Given the description of an element on the screen output the (x, y) to click on. 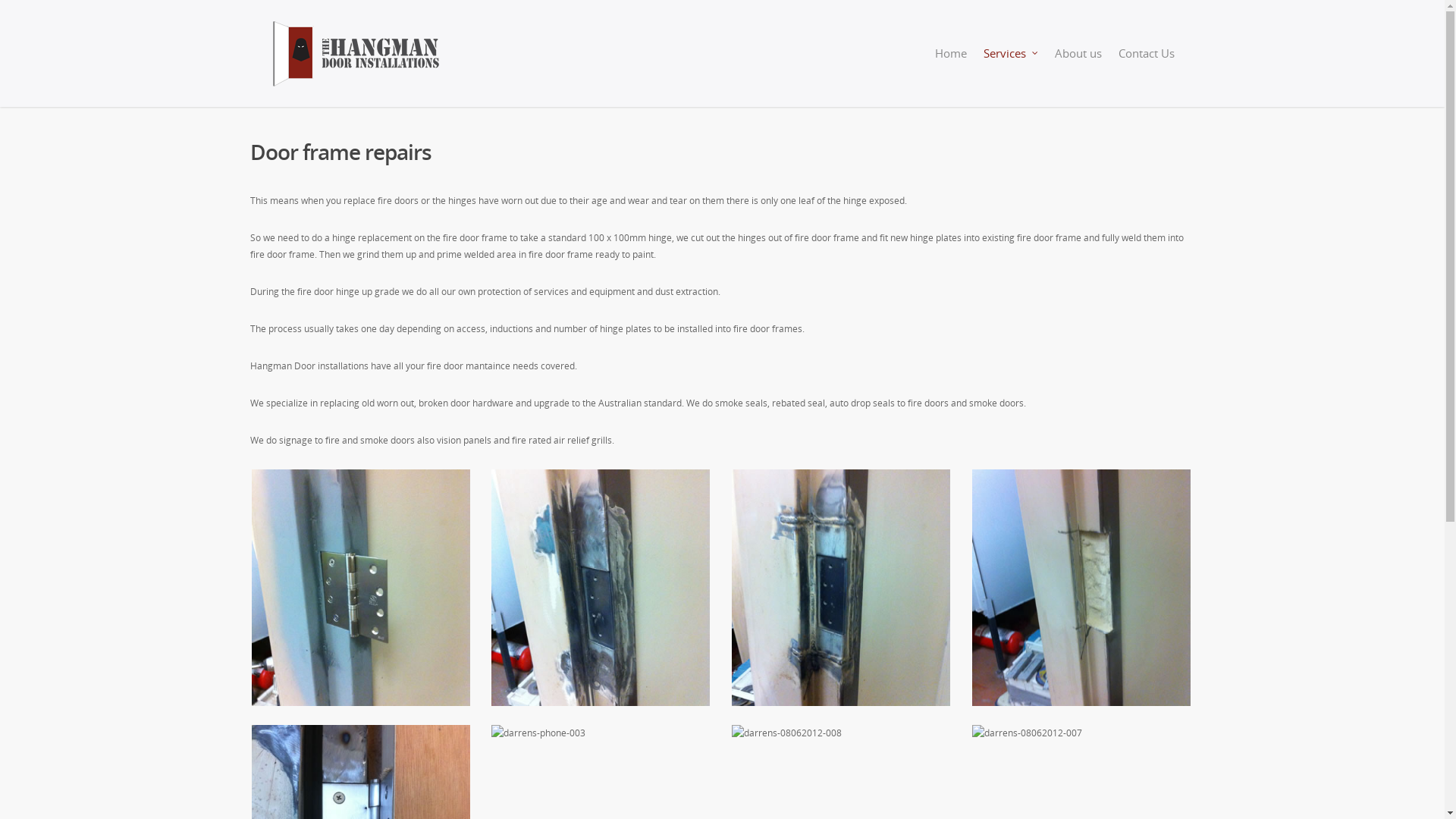
Home Element type: text (950, 63)
Contact Us Element type: text (1146, 63)
Services Element type: text (1010, 63)
About us Element type: text (1078, 63)
